Given the description of an element on the screen output the (x, y) to click on. 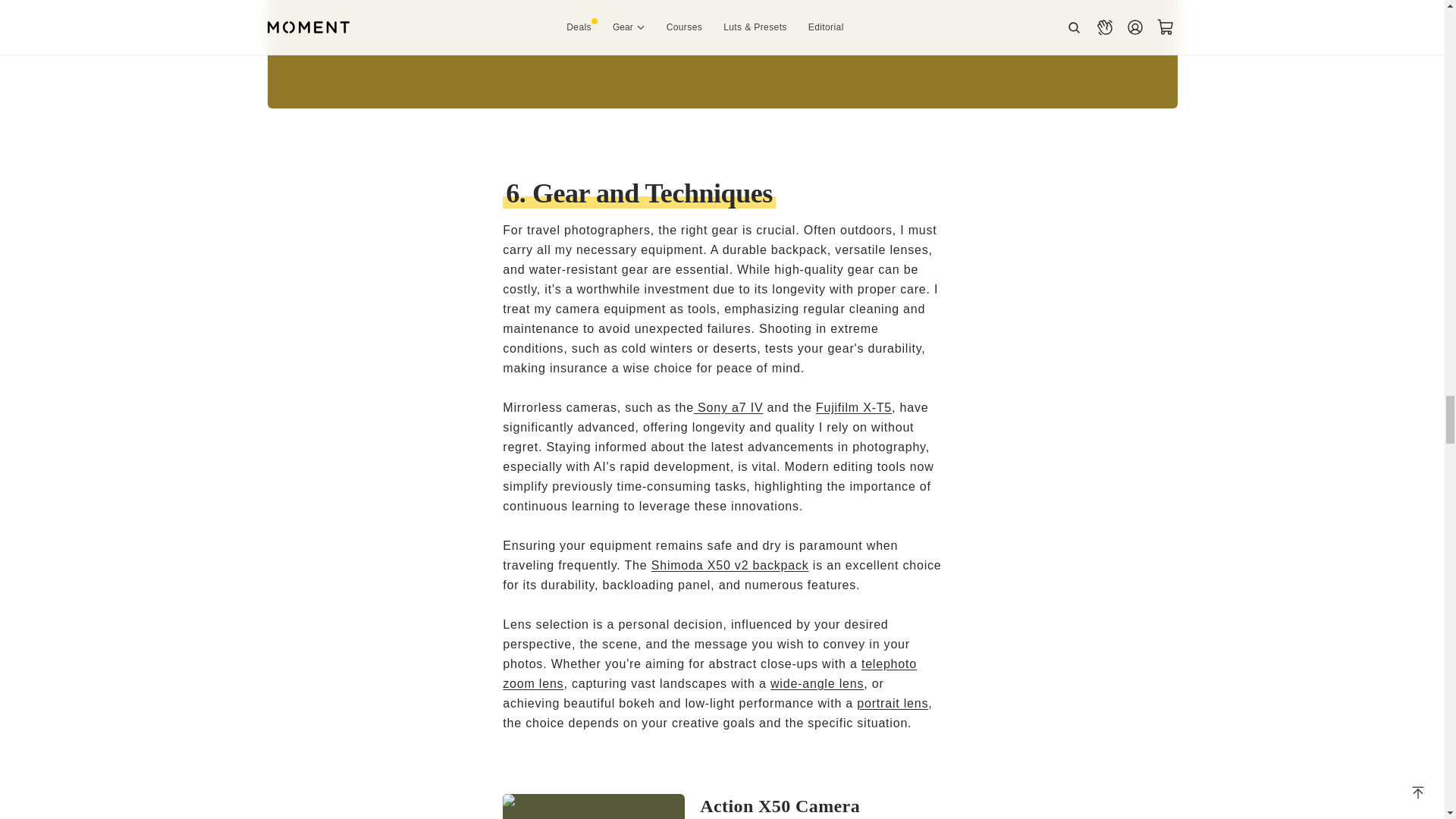
Fujifilm X-T5 (853, 407)
portrait lens (892, 703)
telephoto zoom lens (709, 673)
wide-angle lens (816, 683)
Sony a7 IV (728, 407)
Shimoda X50 v2 backpack (729, 564)
